Given the description of an element on the screen output the (x, y) to click on. 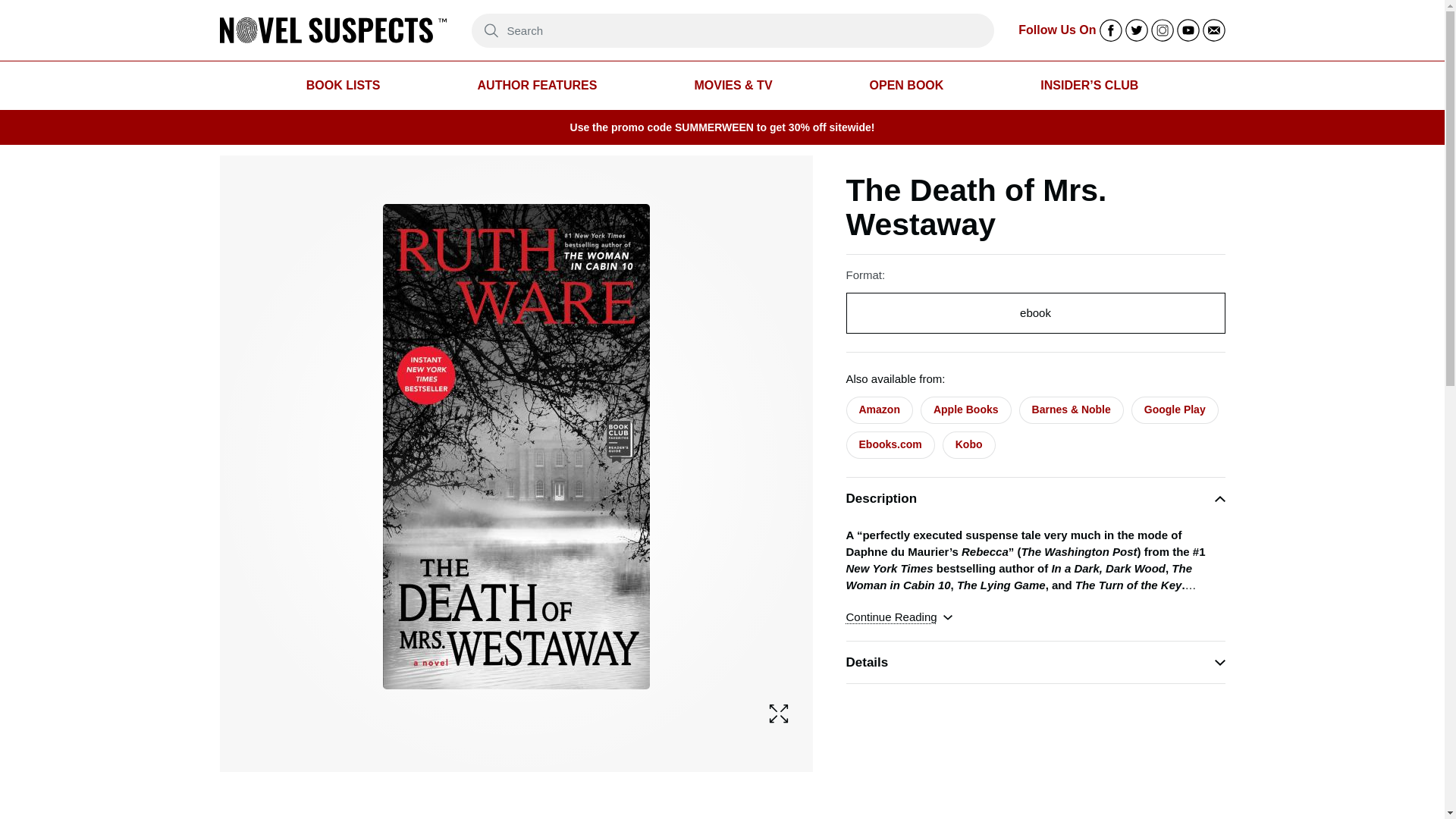
Description (1035, 498)
Apple Books (965, 410)
Google Play (1174, 410)
Ebooks.com (889, 444)
Kobo (968, 444)
AUTHOR FEATURES (536, 85)
BOOK LISTS (342, 85)
Continue Reading (898, 617)
Go to Hachette Book Group home (332, 30)
Amazon (878, 410)
